Given the description of an element on the screen output the (x, y) to click on. 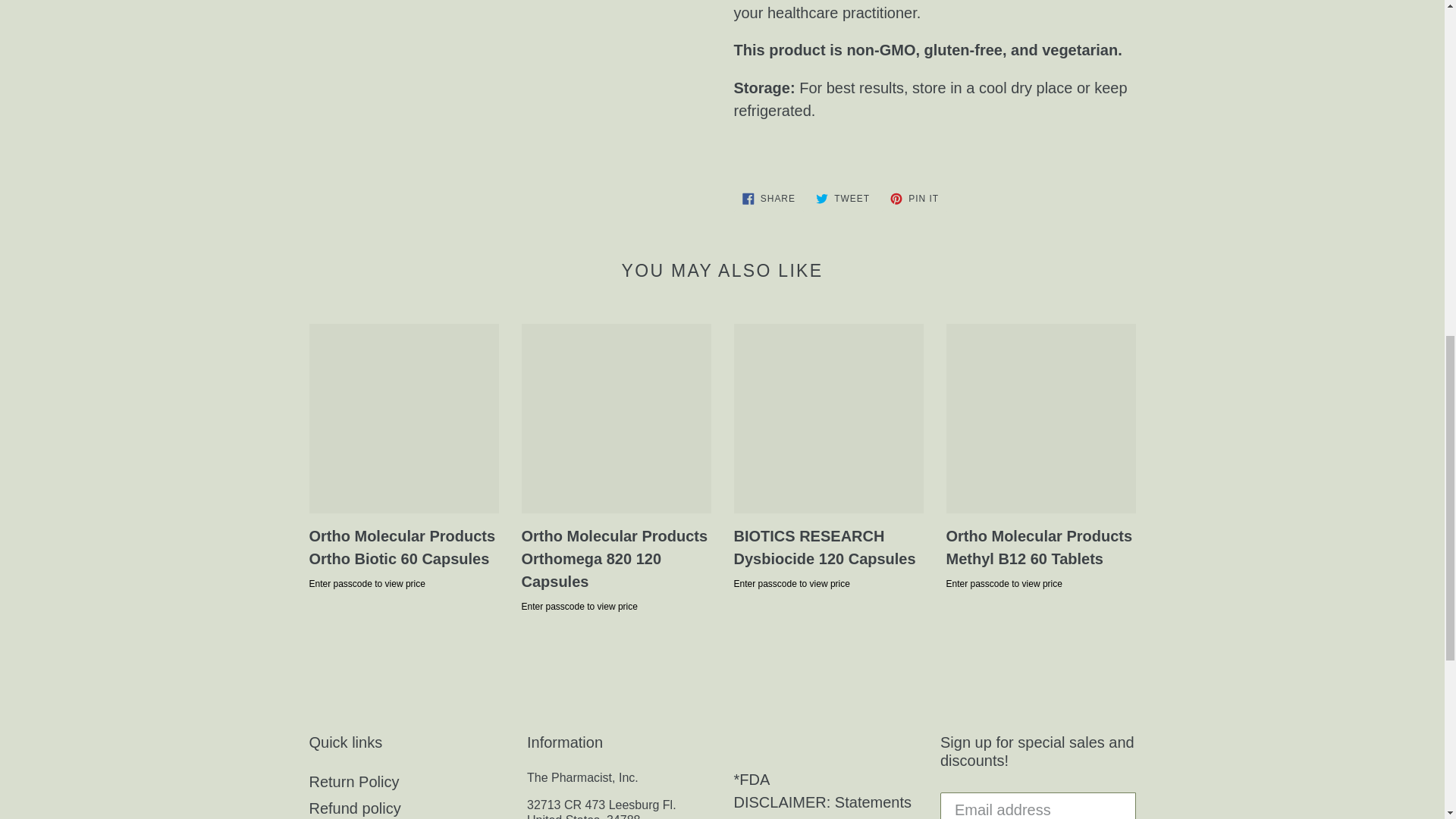
Return Policy (353, 781)
Refund policy (768, 198)
